Given the description of an element on the screen output the (x, y) to click on. 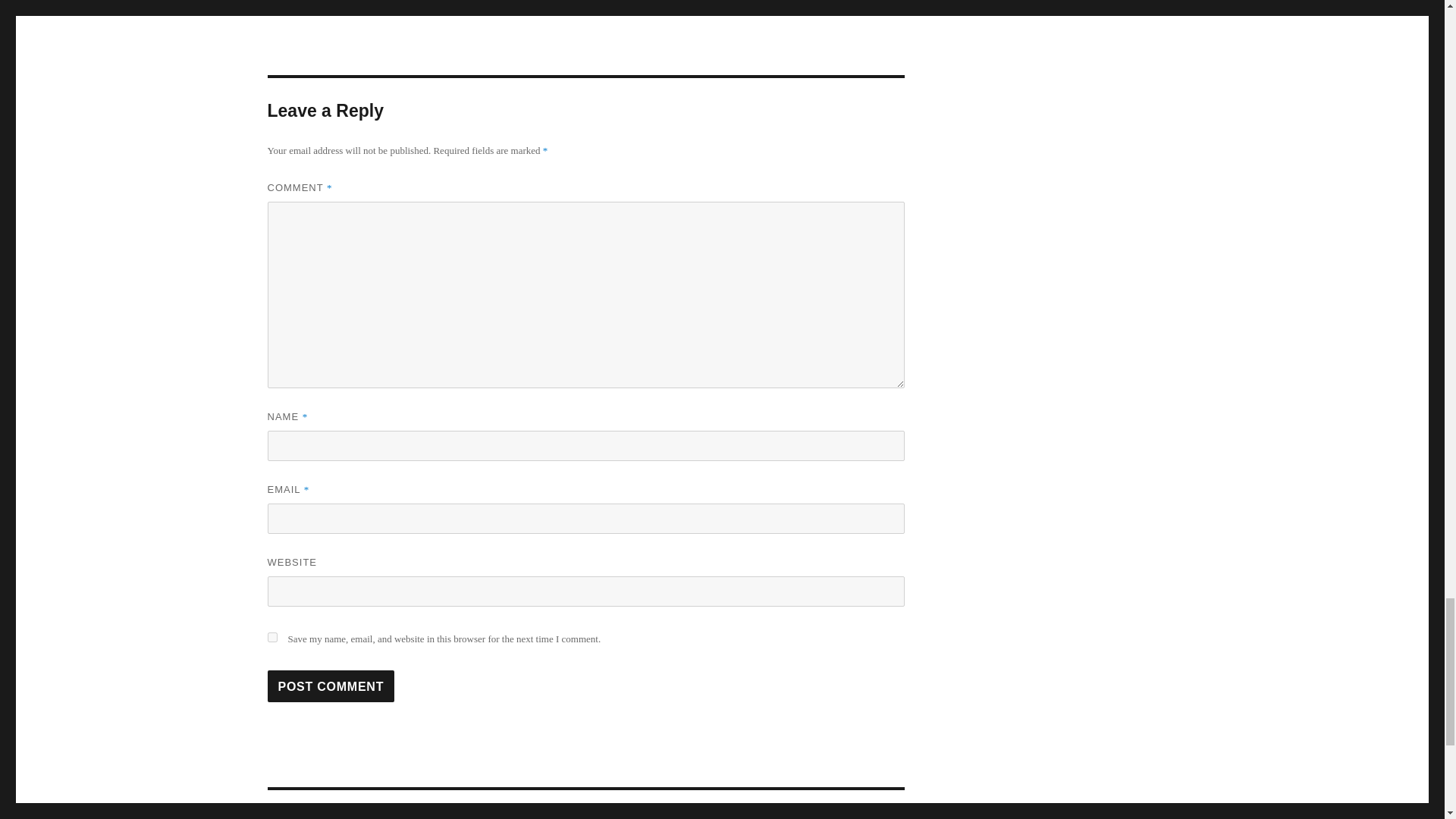
Post Comment (330, 685)
yes (271, 637)
Post Comment (330, 685)
